Given the description of an element on the screen output the (x, y) to click on. 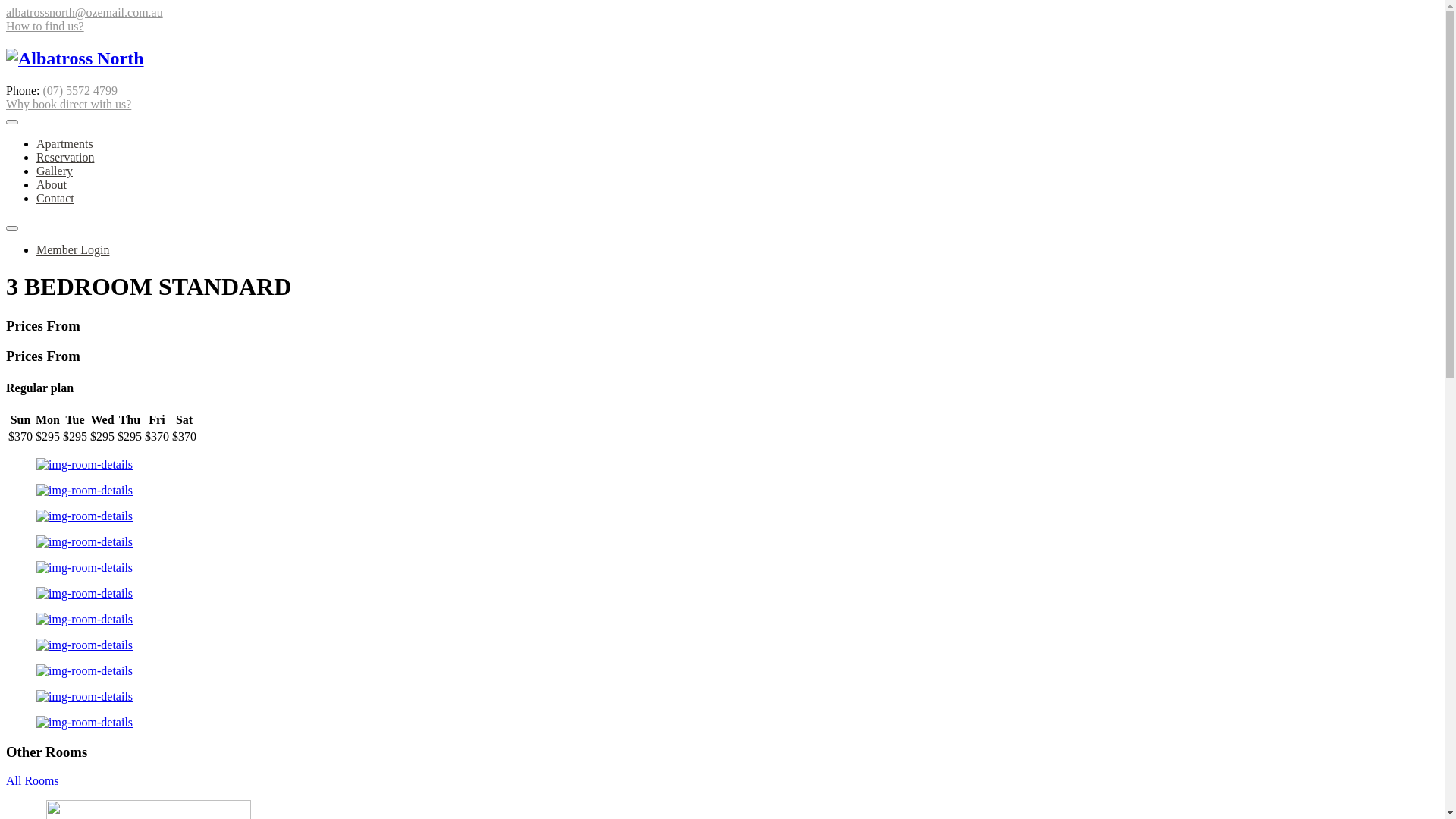
Reservation Element type: text (65, 156)
(07) 5572 4799 Element type: text (79, 90)
Apartments Element type: text (64, 143)
All Rooms Element type: text (32, 780)
Gallery Element type: text (54, 170)
Why book direct with us? Element type: text (68, 103)
Contact Element type: text (55, 197)
albatrossnorth@ozemail.com.au Element type: text (84, 12)
How to find us? Element type: text (45, 25)
About Element type: text (51, 184)
Member Login Element type: text (72, 249)
